Given the description of an element on the screen output the (x, y) to click on. 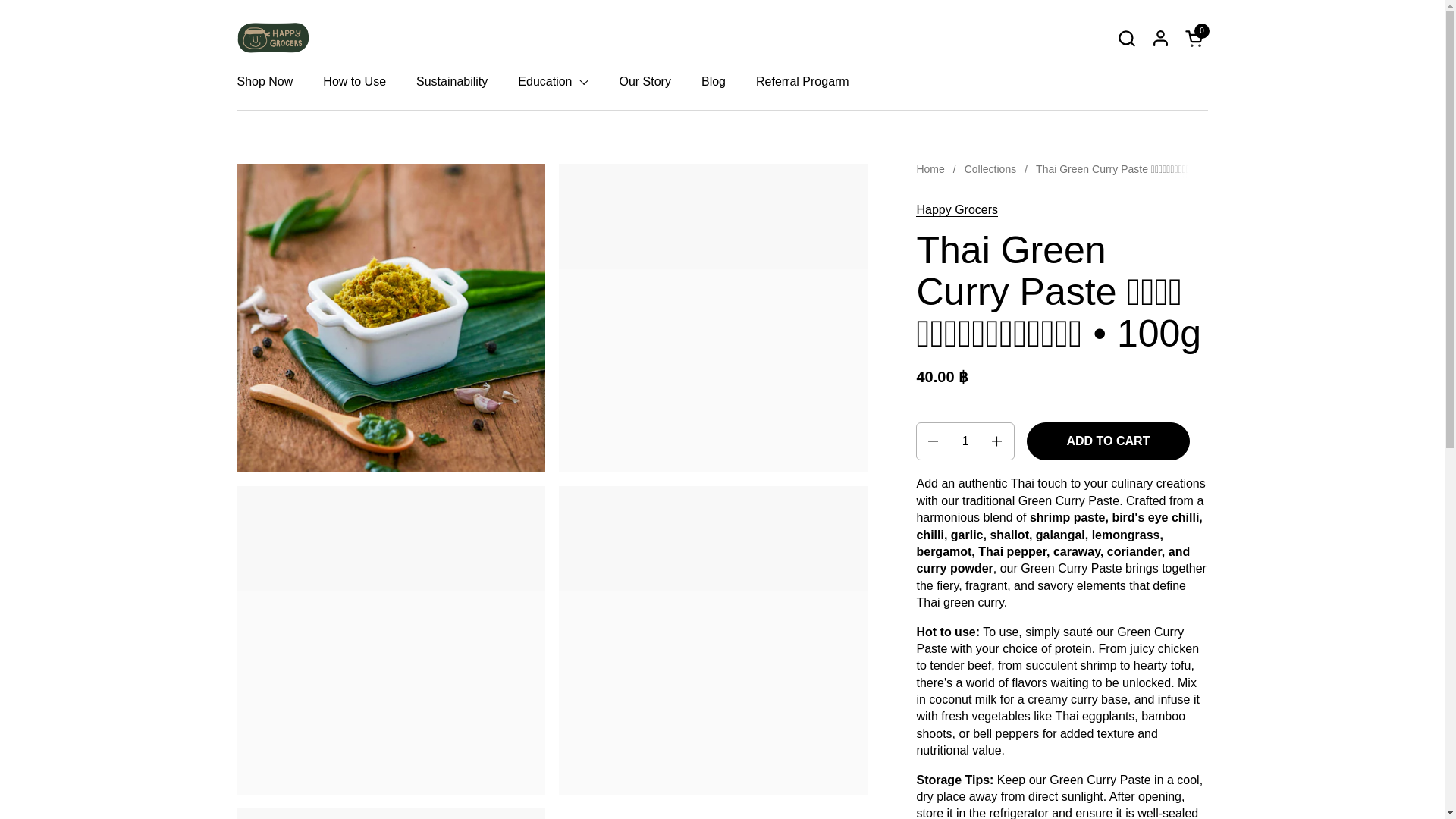
Our Story (644, 81)
Open cart (1196, 37)
Sustainability (451, 81)
Happy Grocers (956, 210)
How to Use (1196, 37)
Blog (354, 81)
Shop Now (713, 81)
Open search (264, 81)
Happy Grocers Thailand (1125, 37)
